Given the description of an element on the screen output the (x, y) to click on. 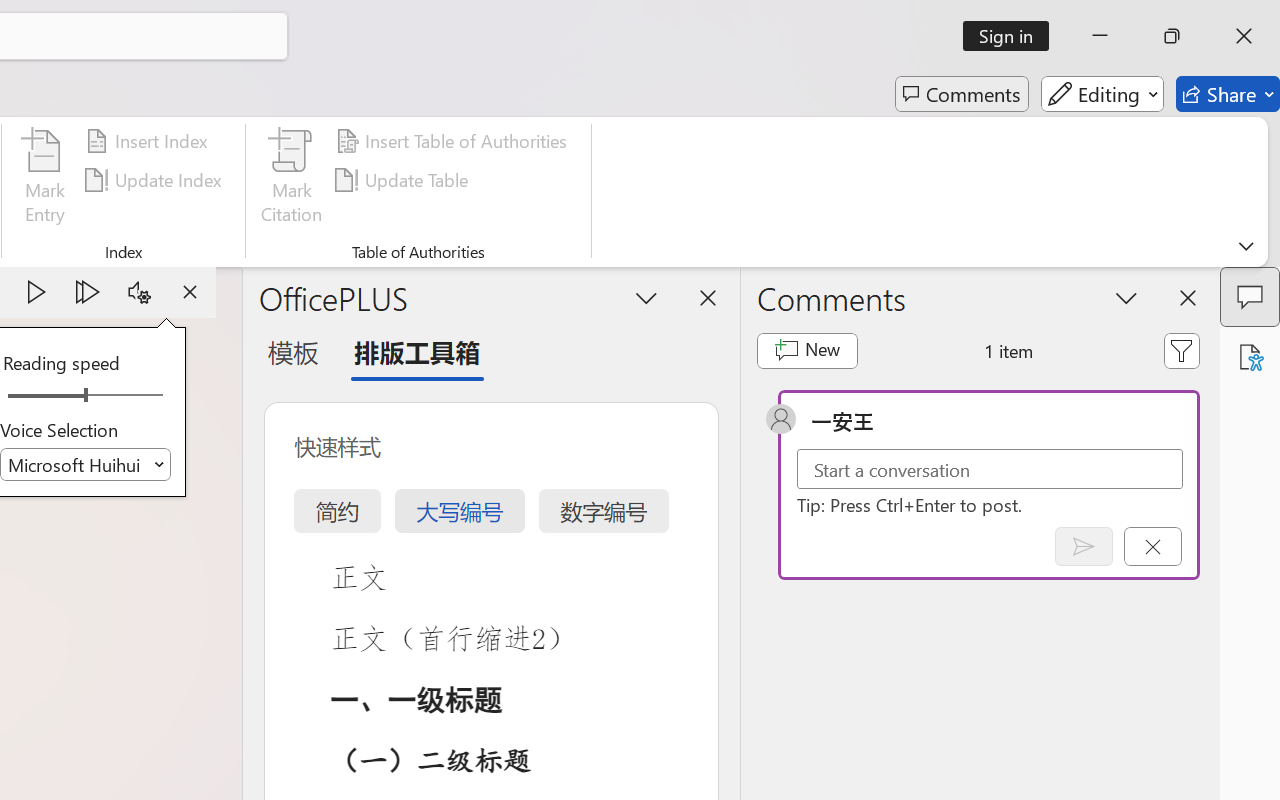
Stop (190, 292)
Next Paragraph (87, 292)
Page left (40, 395)
Reading speed (85, 396)
Editing (1101, 94)
Sign in (1012, 35)
Insert Table of Authorities... (453, 141)
